Given the description of an element on the screen output the (x, y) to click on. 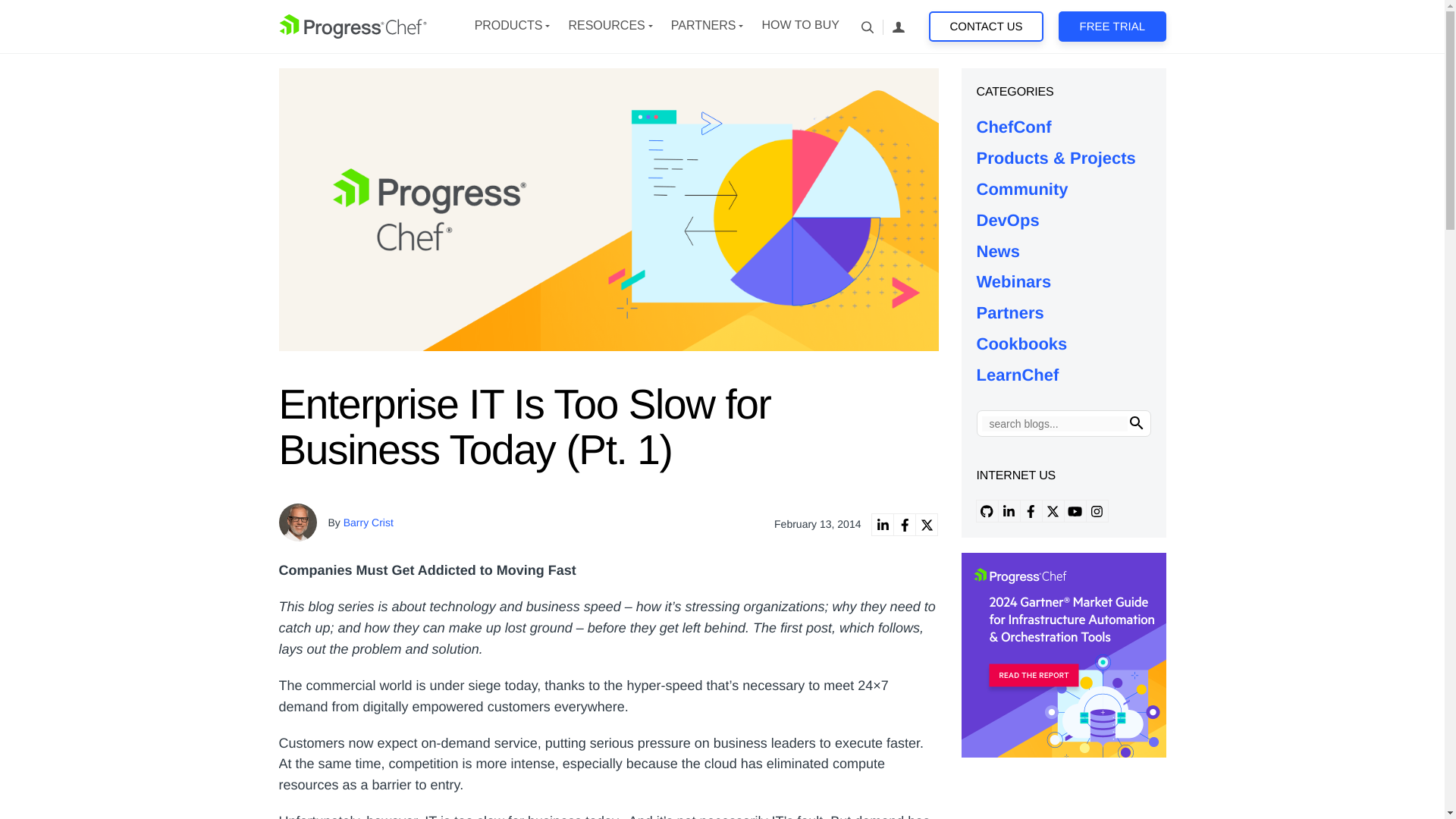
Barry Crist (368, 522)
Avatar (298, 522)
CONTACT US (985, 26)
PARTNERS (703, 25)
RESOURCES (606, 25)
HOW TO BUY (799, 25)
SKIP NAVIGATION (352, 26)
PRODUCTS (508, 25)
